Given the description of an element on the screen output the (x, y) to click on. 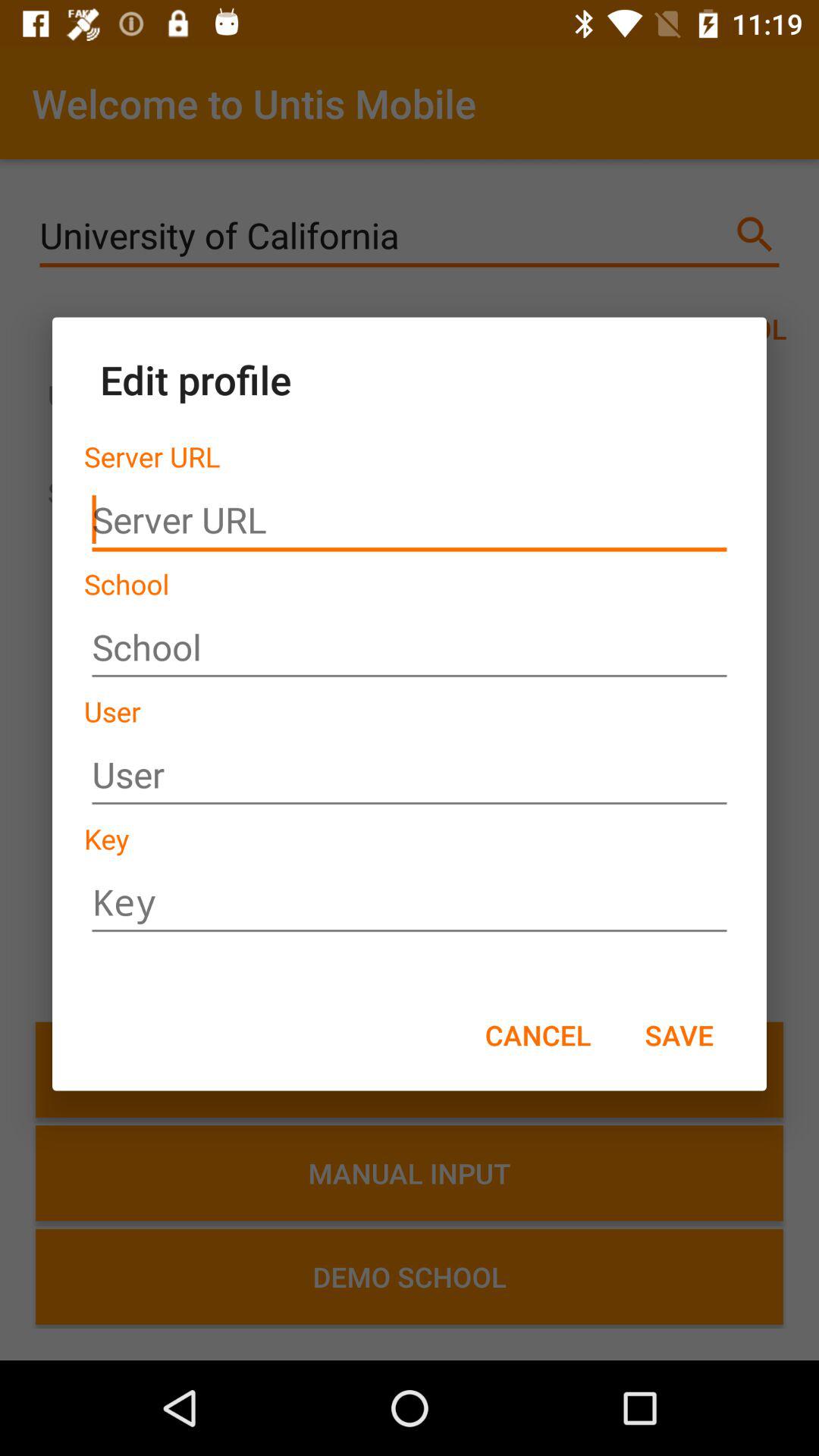
click item to the left of save (538, 1034)
